Given the description of an element on the screen output the (x, y) to click on. 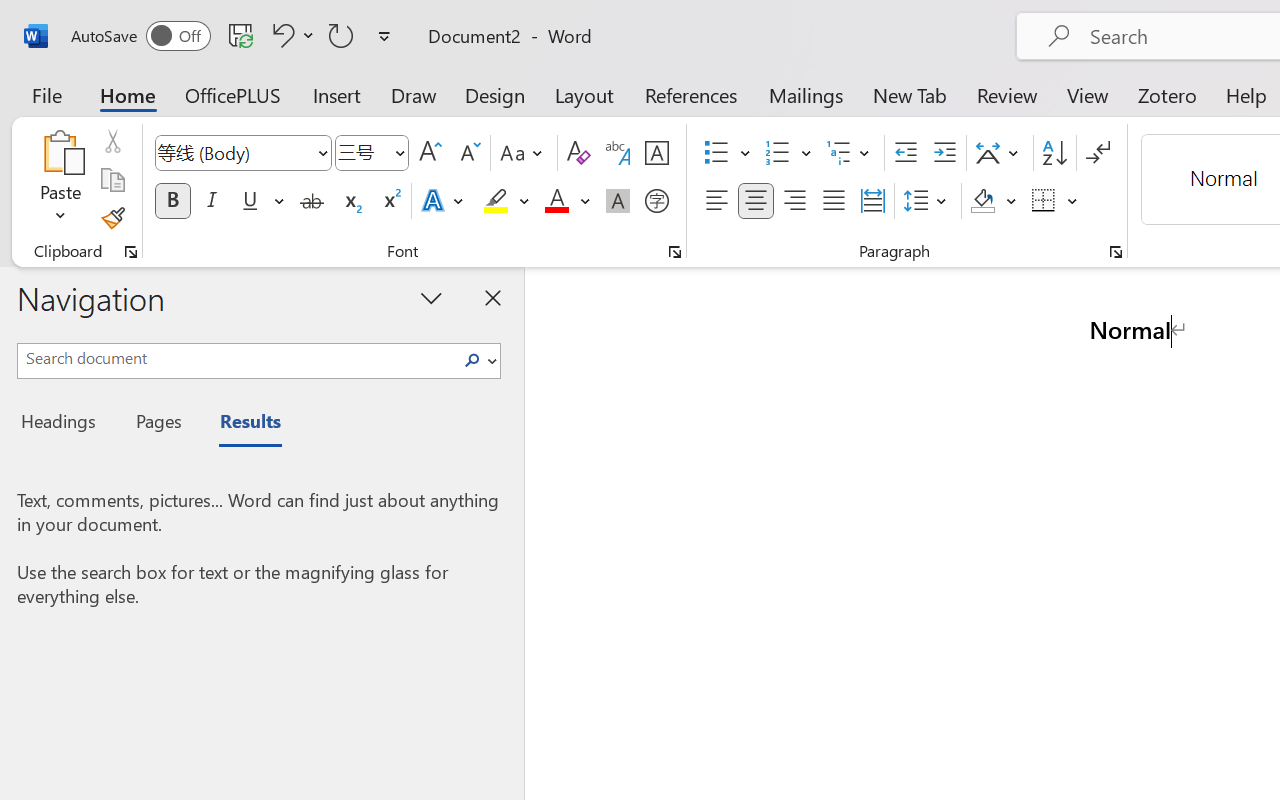
View (1087, 94)
Text Effects and Typography (444, 201)
Cut (112, 141)
Phonetic Guide... (618, 153)
Decrease Indent (906, 153)
References (690, 94)
Bold (172, 201)
OfficePLUS (233, 94)
Open (399, 152)
Search (471, 360)
Change Case (524, 153)
Undo Style (280, 35)
Show/Hide Editing Marks (1098, 153)
Format Painter (112, 218)
